Given the description of an element on the screen output the (x, y) to click on. 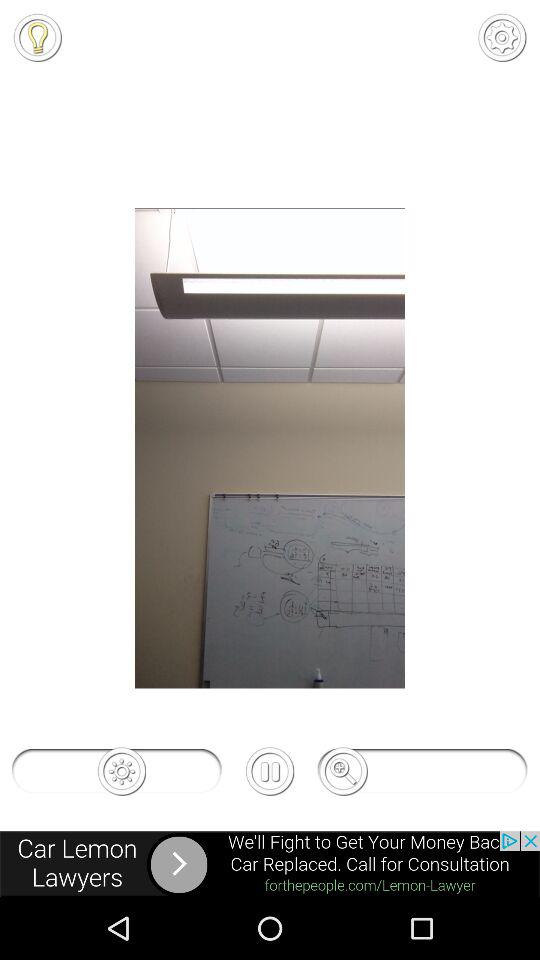
pasue (269, 771)
